Given the description of an element on the screen output the (x, y) to click on. 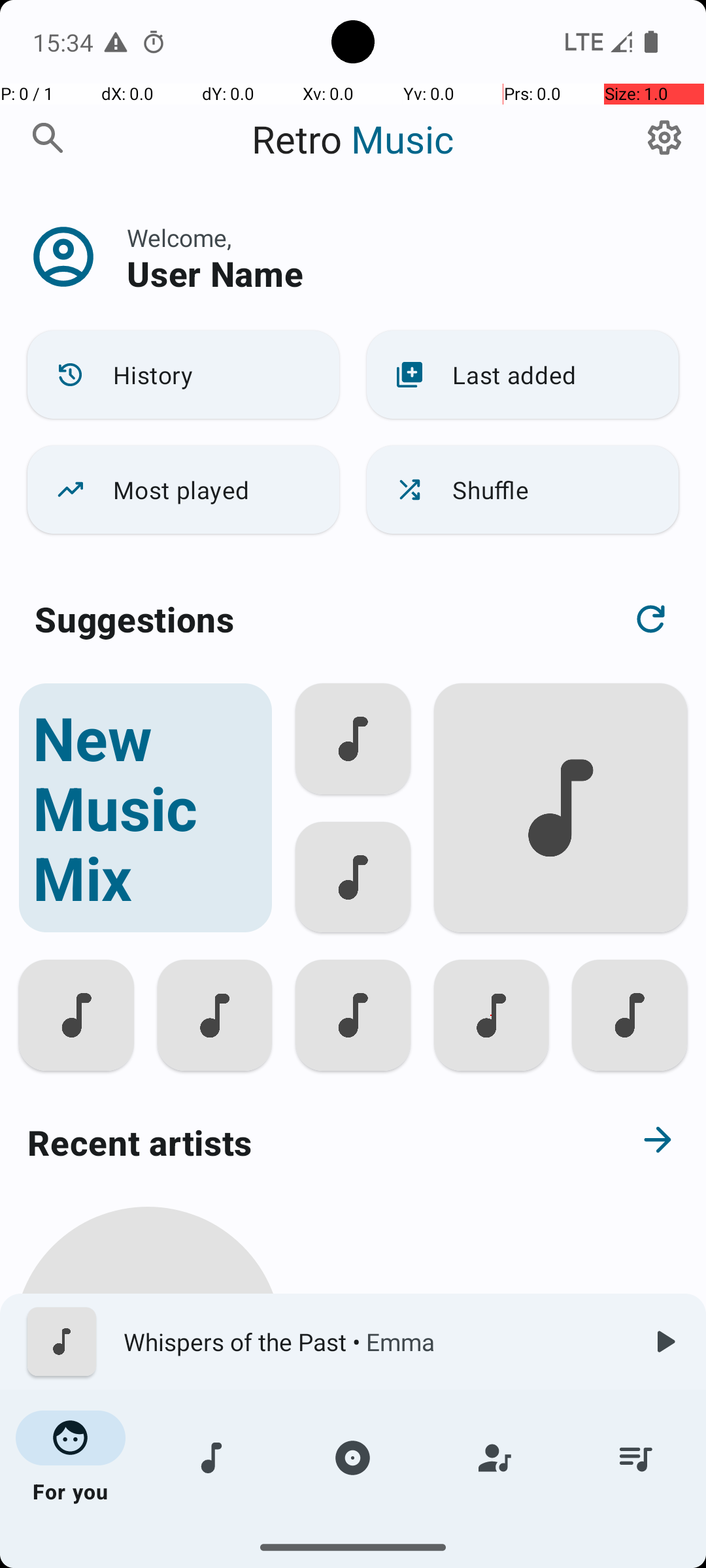
Whispers of the Past • Emma Element type: android.widget.TextView (372, 1341)
Ibrahim Element type: android.widget.TextView (147, 1503)
